Given the description of an element on the screen output the (x, y) to click on. 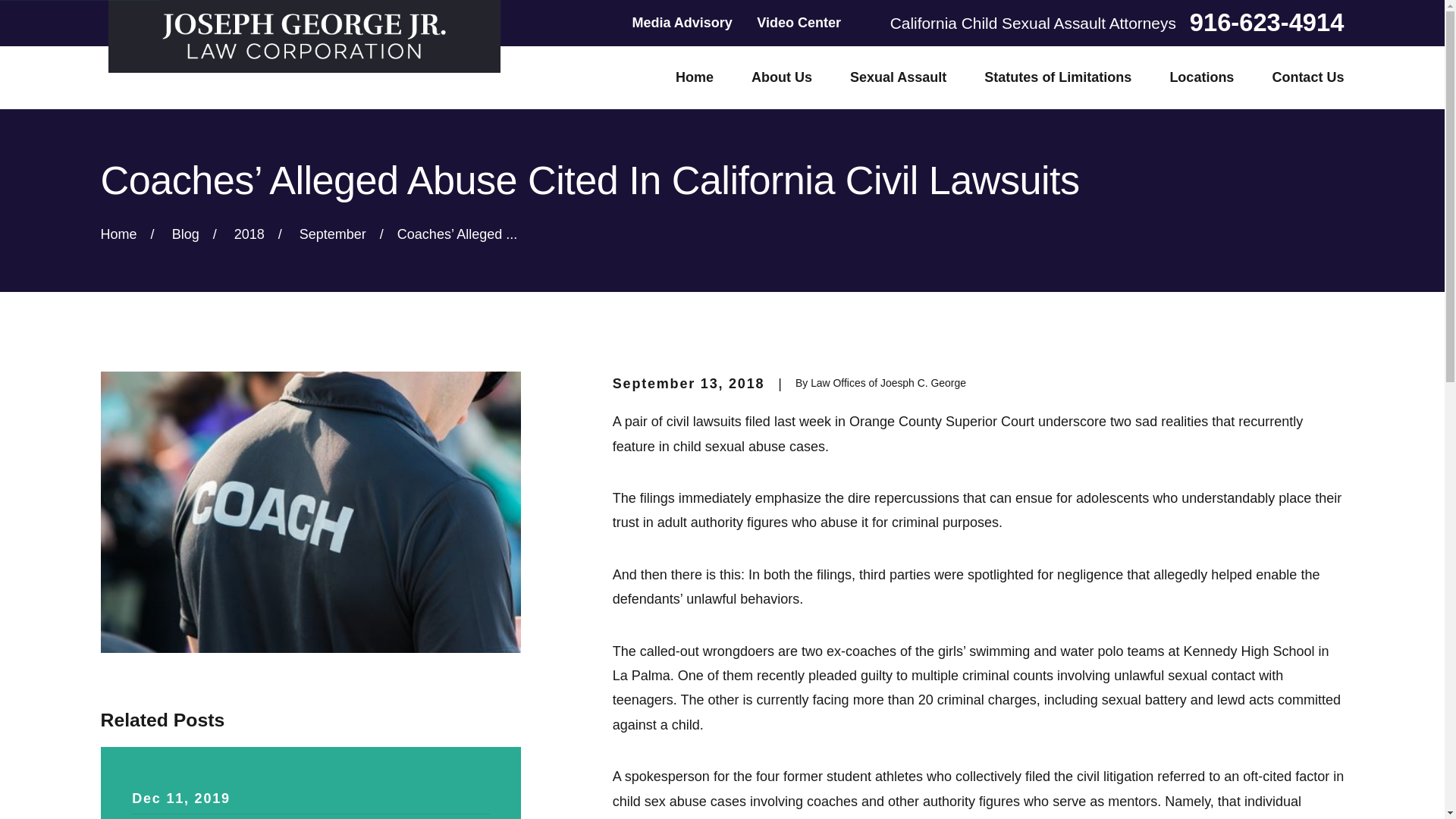
Go Home (118, 233)
Sexual Assault (898, 76)
Contact Us (1307, 76)
Media Advisory (681, 22)
Home (694, 76)
Video Center (799, 22)
About Us (781, 76)
Home (303, 35)
Locations (1201, 76)
916-623-4914 (1266, 23)
Statutes of Limitations (1057, 76)
